Given the description of an element on the screen output the (x, y) to click on. 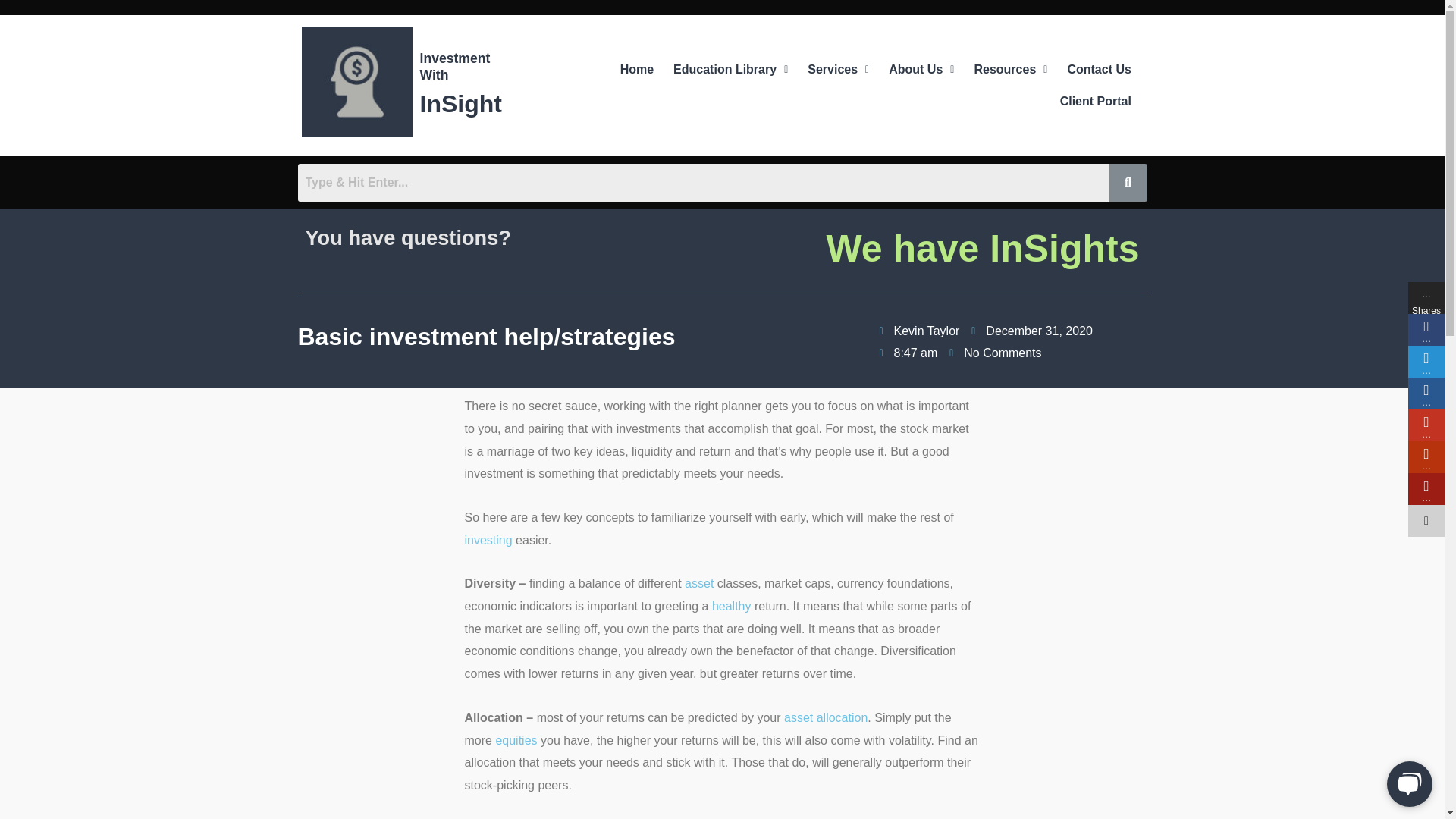
About Us (921, 69)
Contact Us (1098, 69)
Services (838, 69)
Search (702, 182)
Home (636, 69)
Client Portal (1095, 101)
Education Library (730, 69)
Definitions: Assets (698, 583)
Equity (516, 739)
Investment With (455, 66)
Resources (1010, 69)
Our Investment Philosophy (488, 540)
Asset Allocation (825, 717)
InSight (461, 103)
